Given the description of an element on the screen output the (x, y) to click on. 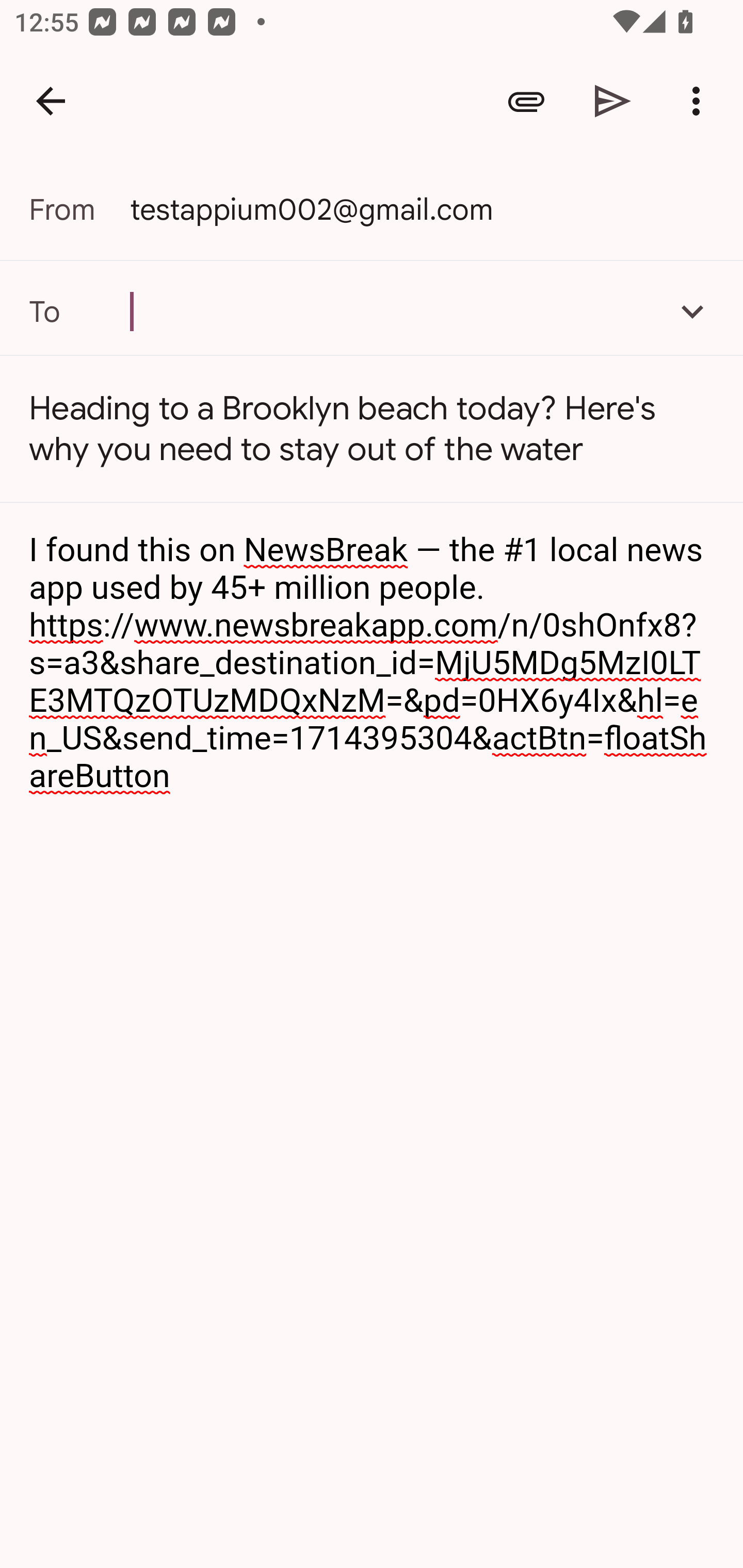
Navigate up (50, 101)
Attach file (525, 101)
Send (612, 101)
More options (699, 101)
From (79, 209)
Add Cc/Bcc (692, 311)
